Given the description of an element on the screen output the (x, y) to click on. 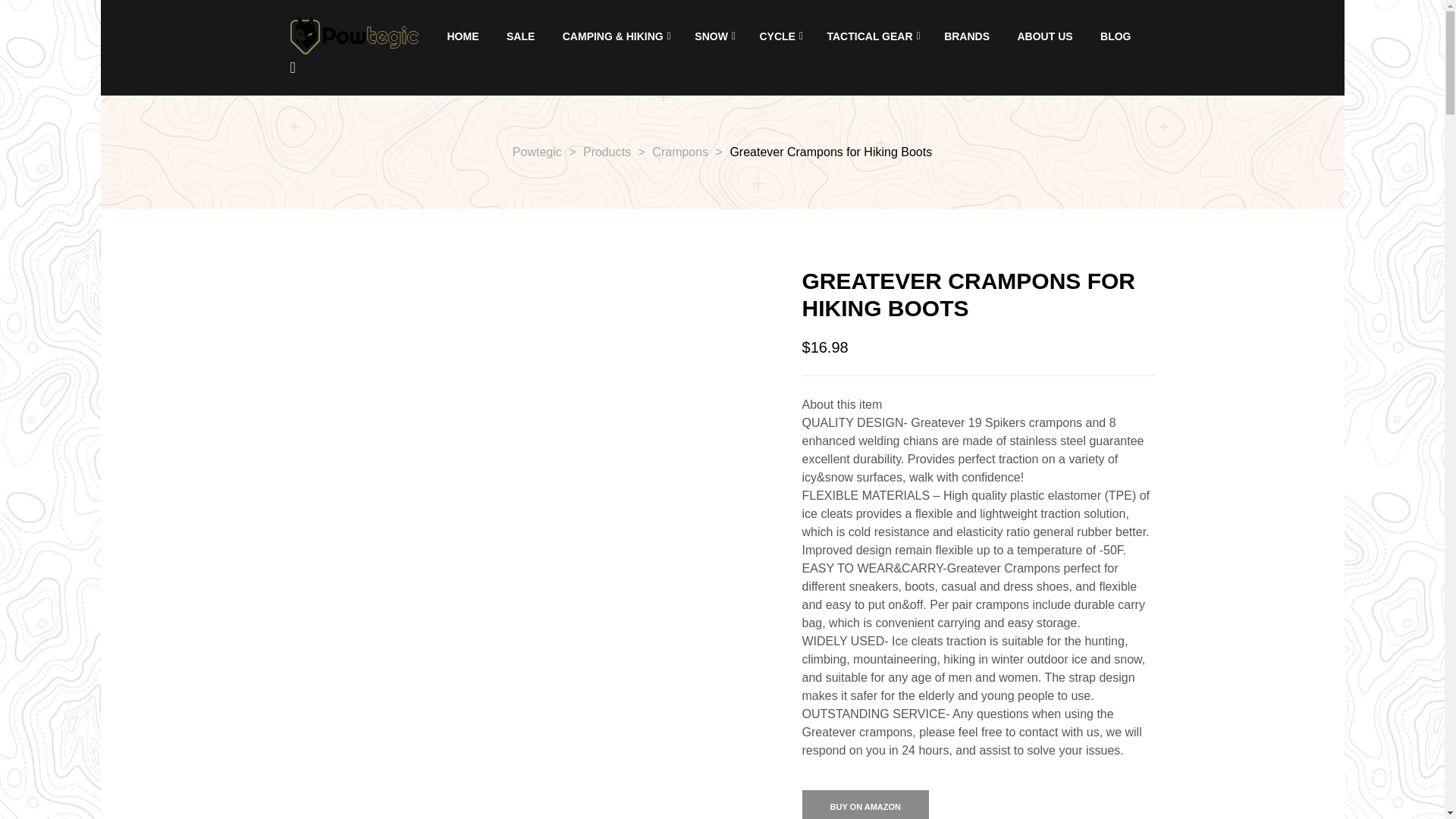
Go to Products. (606, 151)
Go to the Crampons Category archives. (679, 151)
SALE (521, 36)
Go to Powtegic. (537, 151)
SNOW (713, 36)
HOME (463, 36)
